Given the description of an element on the screen output the (x, y) to click on. 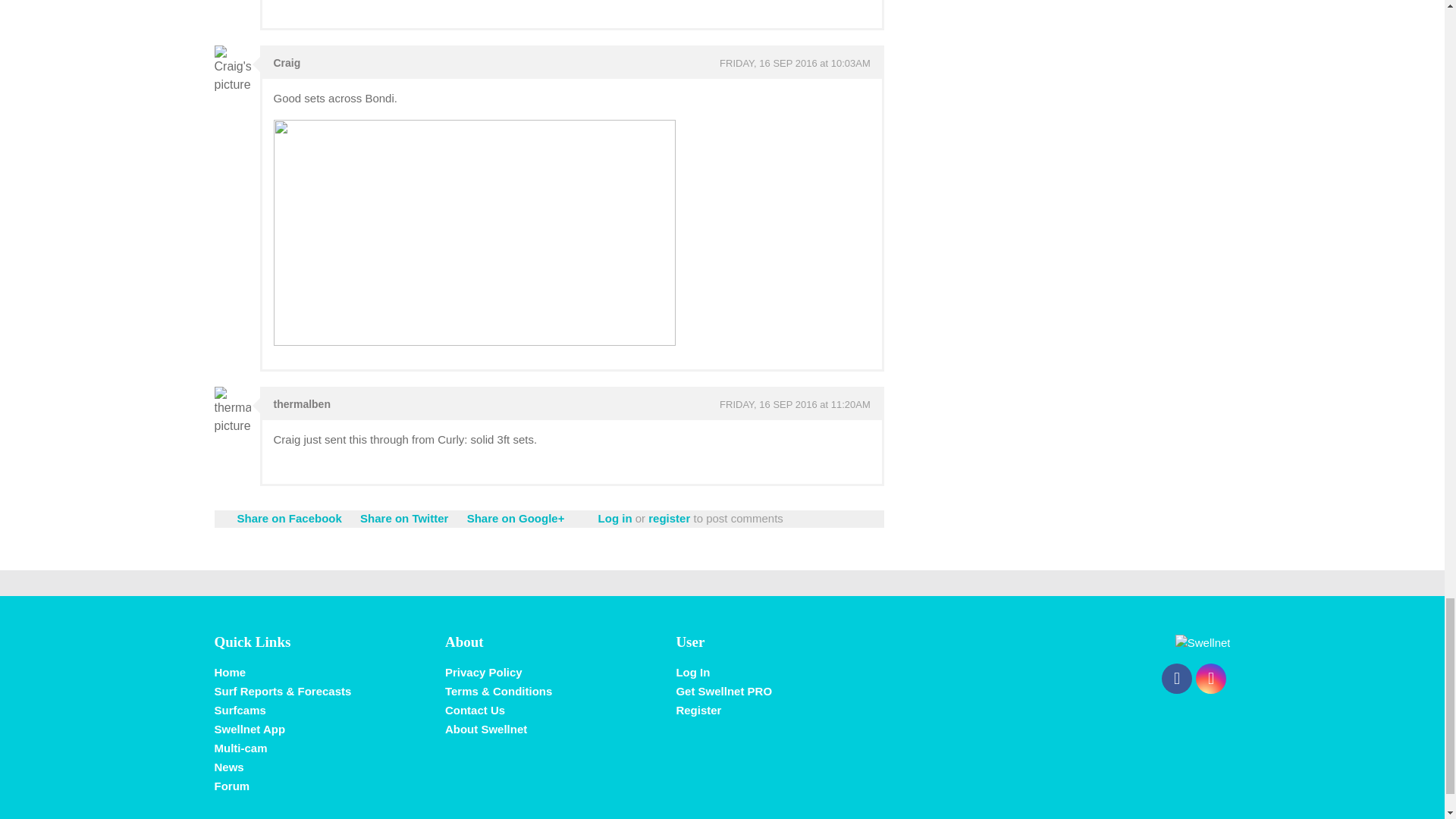
Instagram (1210, 678)
register (668, 517)
Share on Facebook (287, 517)
Facebook (1176, 678)
Share this post on Facebook (287, 517)
Share on Twitter (403, 517)
Log in (614, 517)
Share this post on Twitter (403, 517)
